Given the description of an element on the screen output the (x, y) to click on. 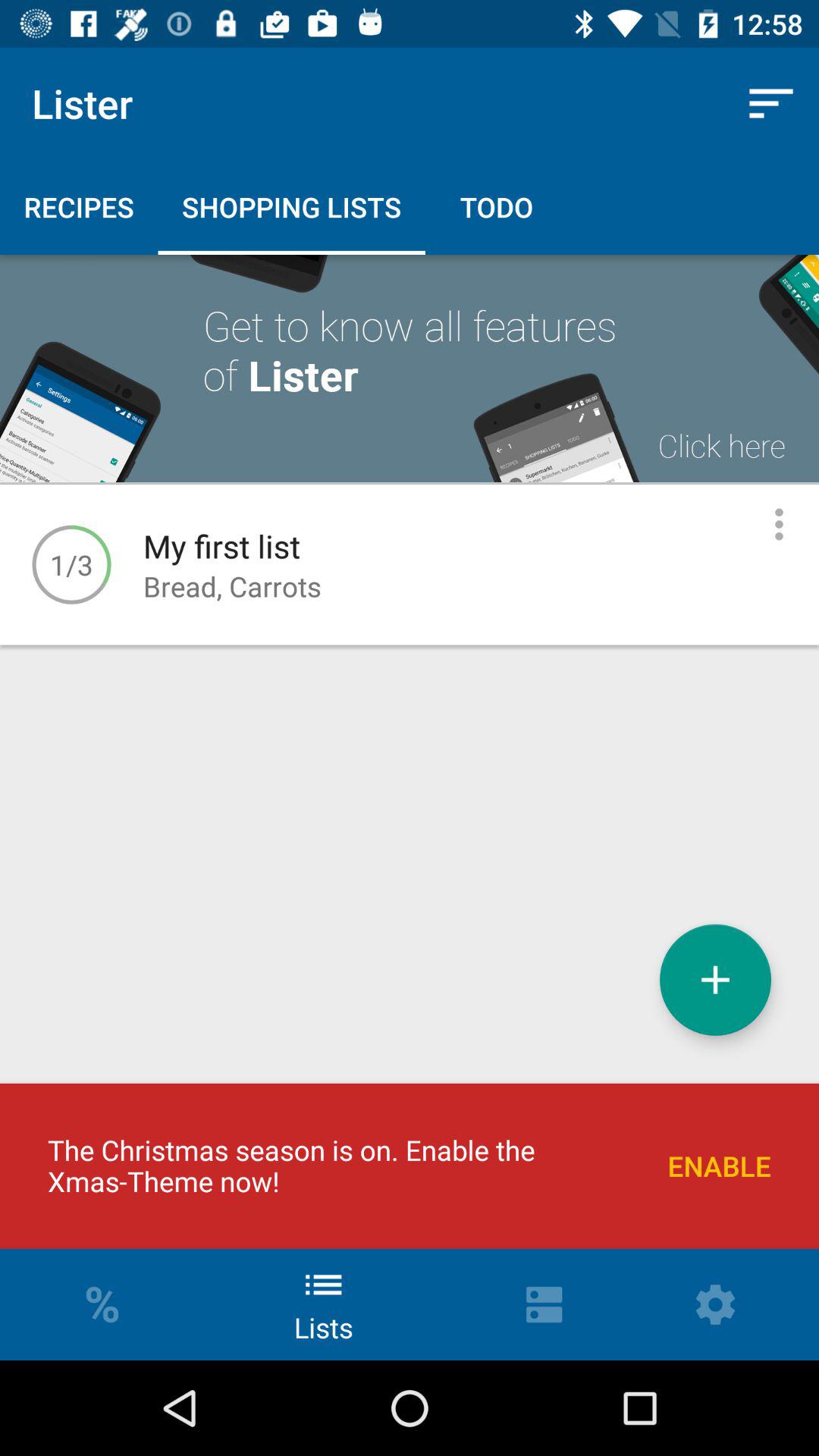
more options (779, 524)
